Given the description of an element on the screen output the (x, y) to click on. 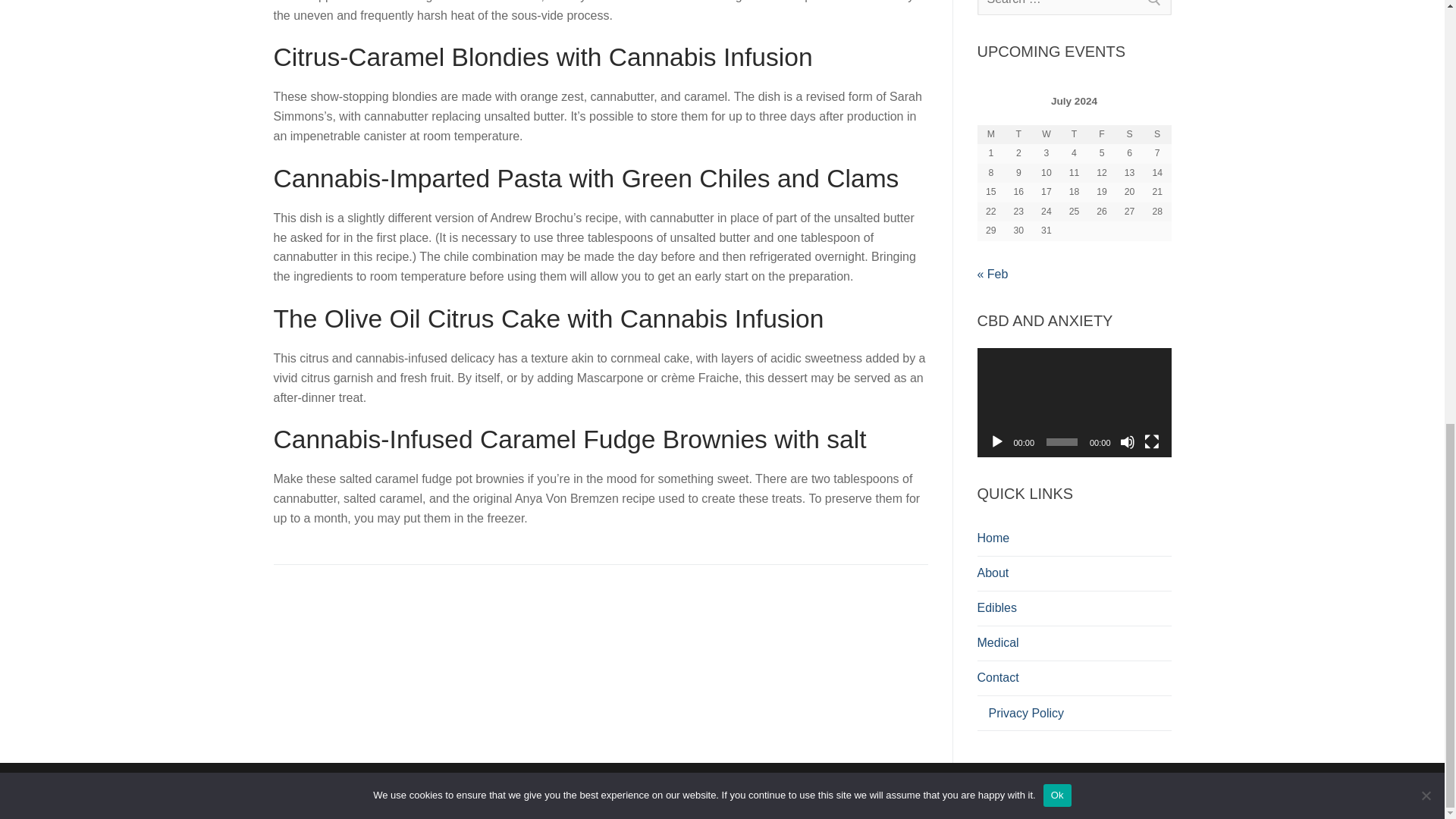
Monday (990, 134)
Search for: (1073, 7)
Home (1073, 538)
